Given the description of an element on the screen output the (x, y) to click on. 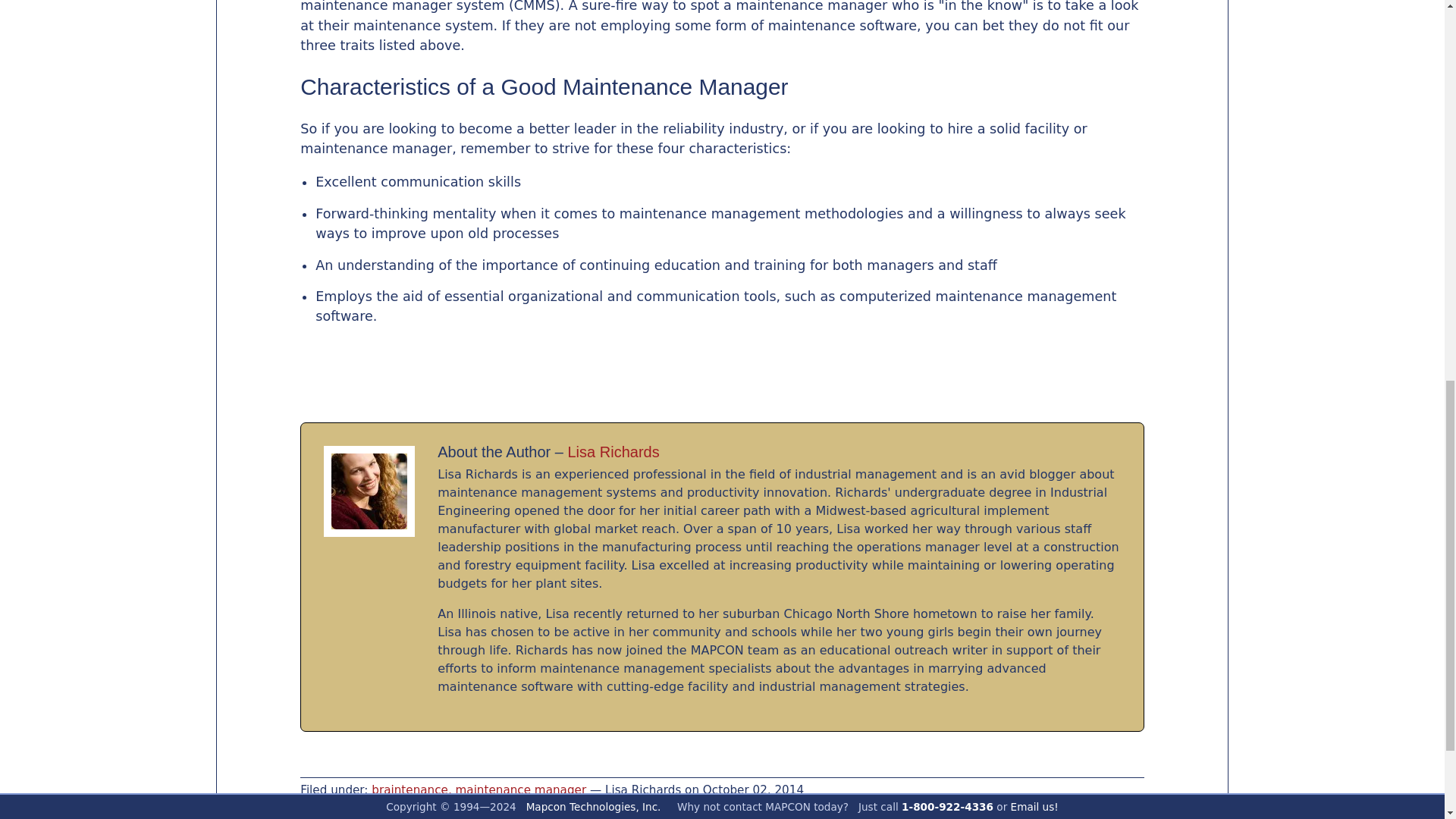
Twitter (17, 1)
YouTube (50, 1)
LinkedIn (107, 1)
Facebook (79, 1)
